Given the description of an element on the screen output the (x, y) to click on. 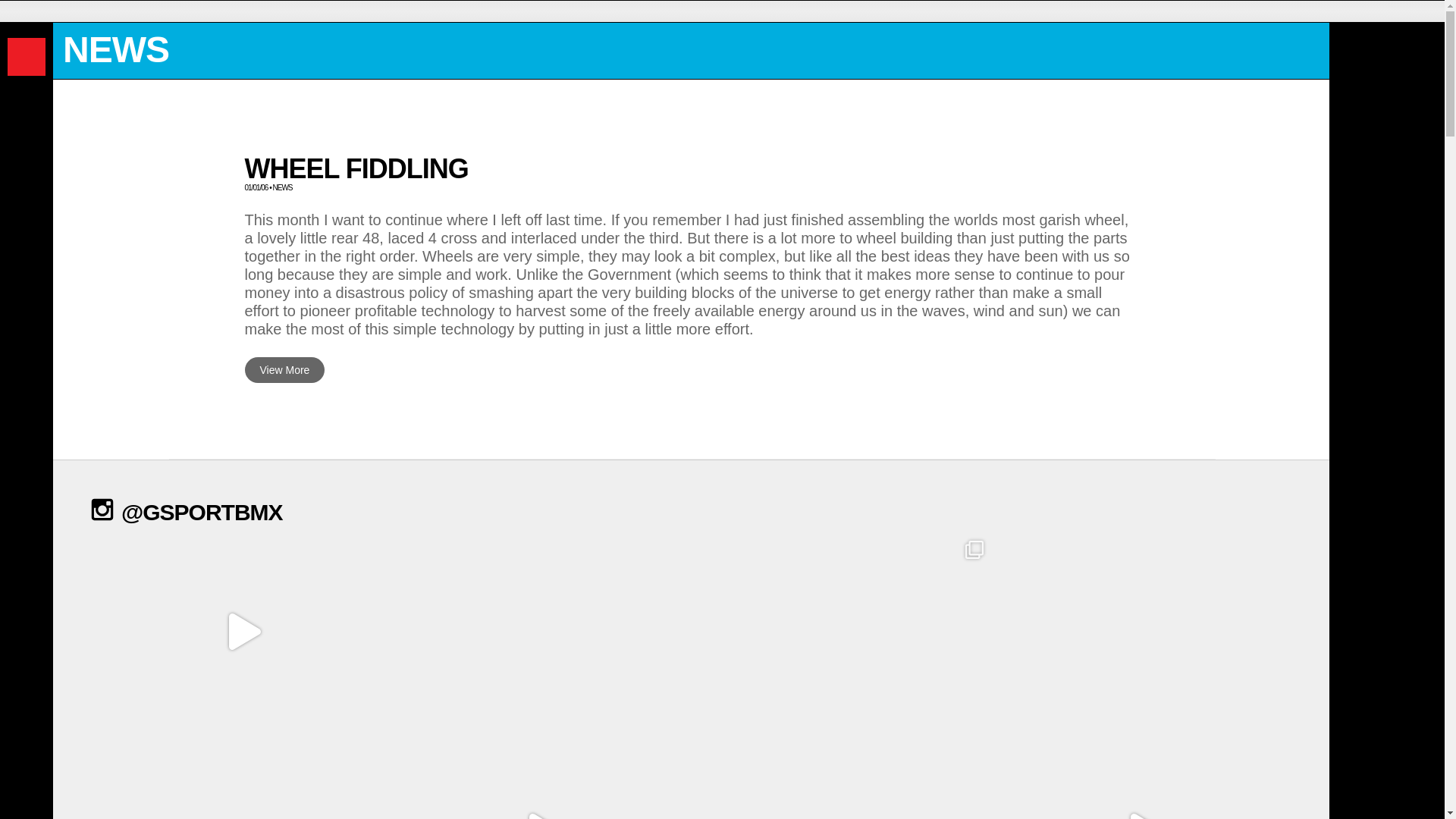
WHEEL FIDDLING (355, 168)
GSport (26, 56)
View More (284, 370)
Cart (1433, 10)
